Given the description of an element on the screen output the (x, y) to click on. 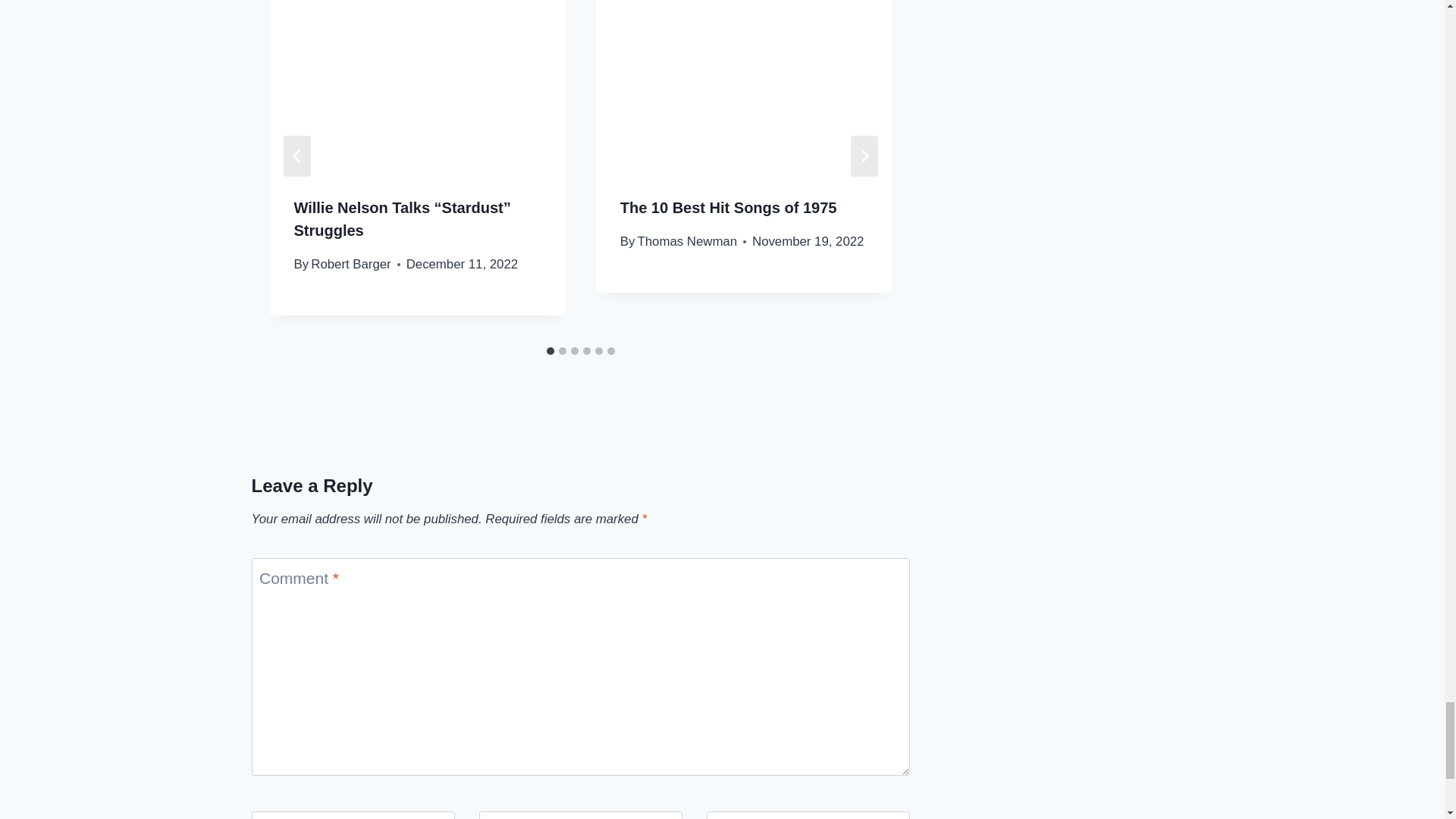
Robert Barger (350, 264)
The 10 Best Hit Songs of 1975 (728, 207)
Thomas Newman (687, 241)
